Given the description of an element on the screen output the (x, y) to click on. 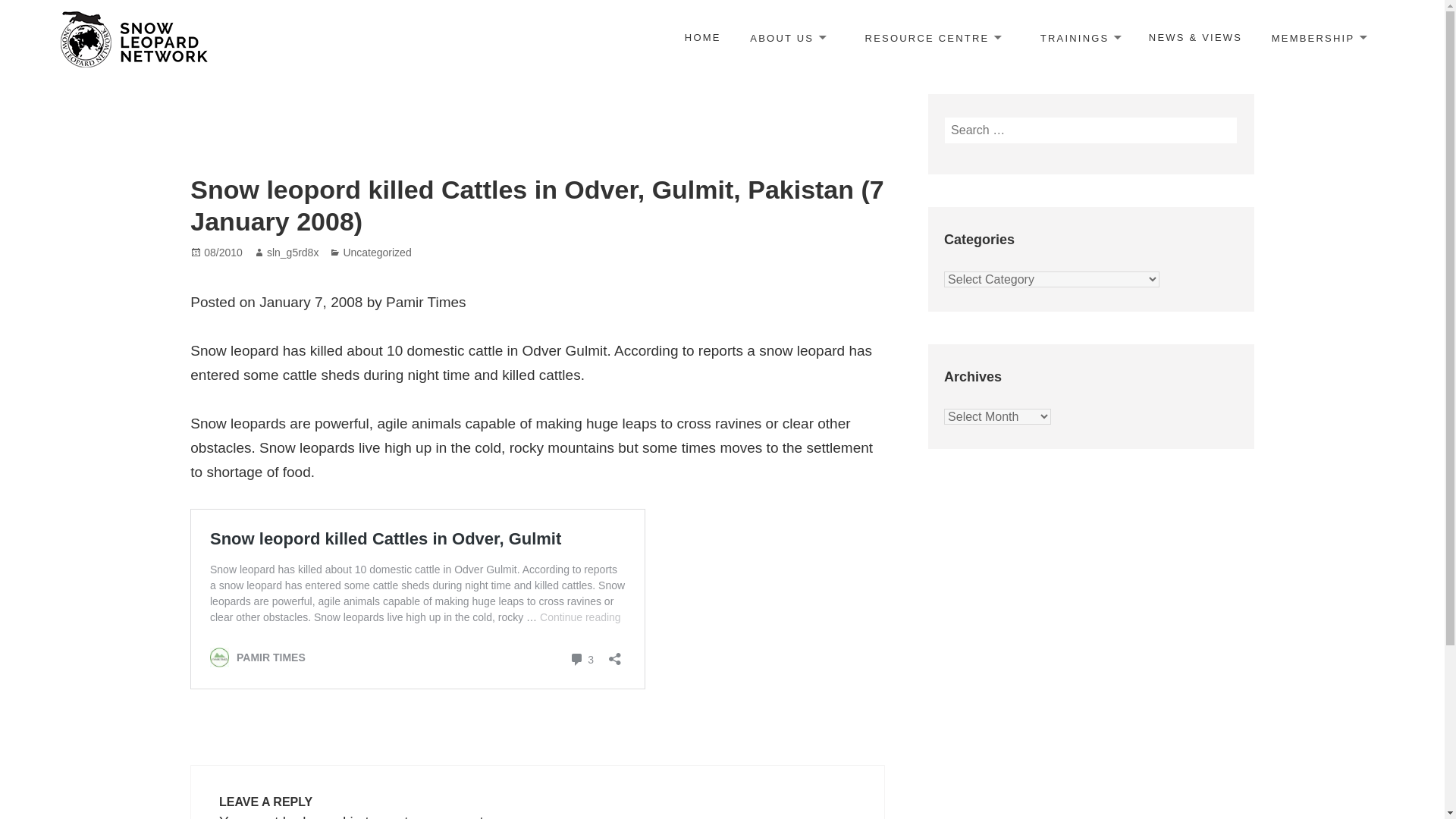
HOME (702, 38)
RESOURCE CENTRE (932, 39)
TRAININGS (1080, 39)
Snow Leopard Network (174, 79)
ABOUT US (786, 39)
